Given the description of an element on the screen output the (x, y) to click on. 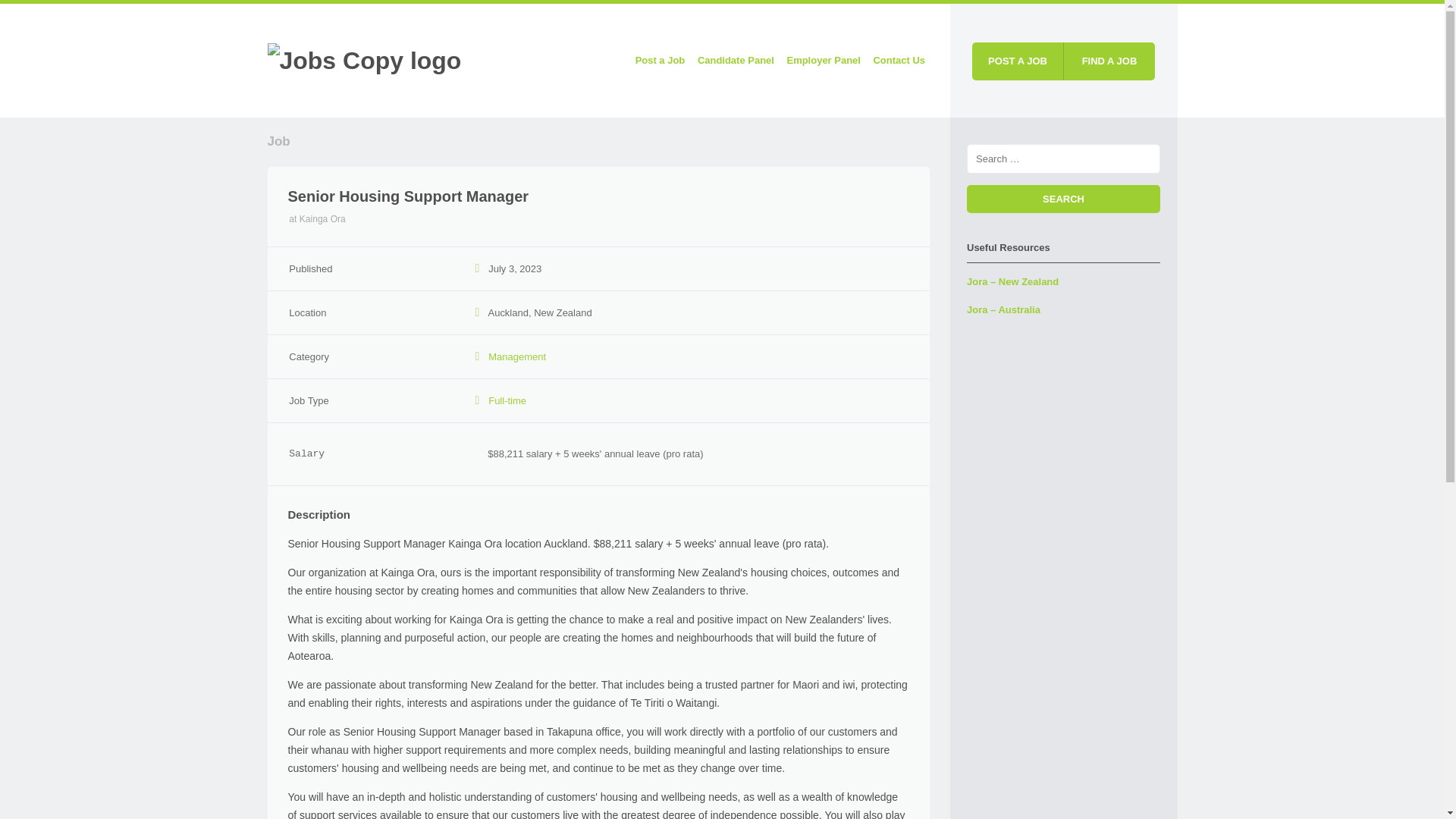
POST A JOB (1017, 61)
Contact Us (898, 60)
Full-time (506, 400)
Post a Job (660, 60)
FIND A JOB (1108, 61)
Skip to content (560, 60)
Candidate Panel (735, 60)
Search (1063, 198)
Employer Panel (822, 60)
Management (516, 356)
